Given the description of an element on the screen output the (x, y) to click on. 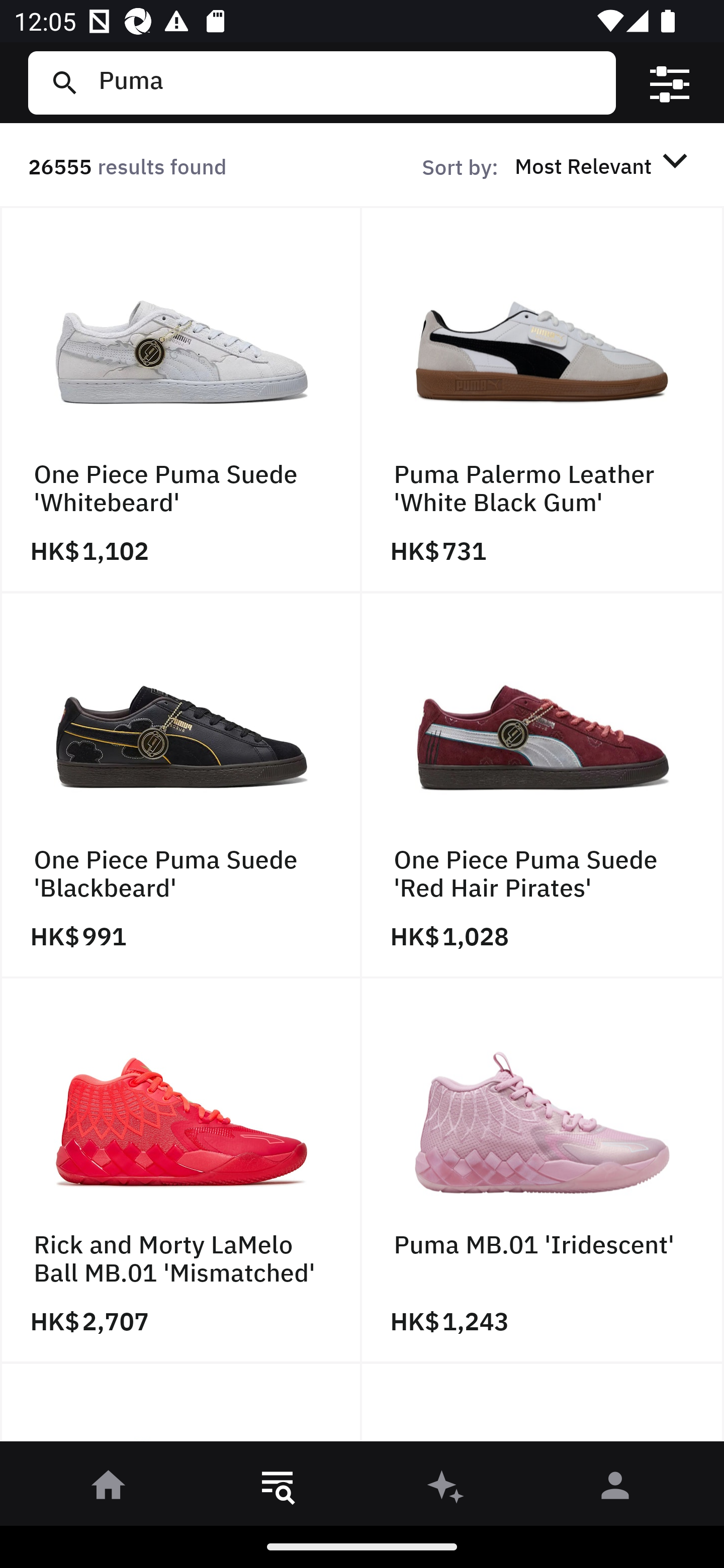
Puma (349, 82)
 (669, 82)
Most Relevant  (604, 165)
One Piece Puma Suede 'Whitebeard' HK$ 1,102 (181, 399)
Puma Palermo Leather 'White Black Gum' HK$ 731 (543, 399)
One Piece Puma Suede 'Blackbeard' HK$ 991 (181, 785)
One Piece Puma Suede 'Red Hair Pirates' HK$ 1,028 (543, 785)
Puma MB.01 'Iridescent' HK$ 1,243 (543, 1171)
󰋜 (108, 1488)
󱎸 (277, 1488)
󰫢 (446, 1488)
󰀄 (615, 1488)
